Given the description of an element on the screen output the (x, y) to click on. 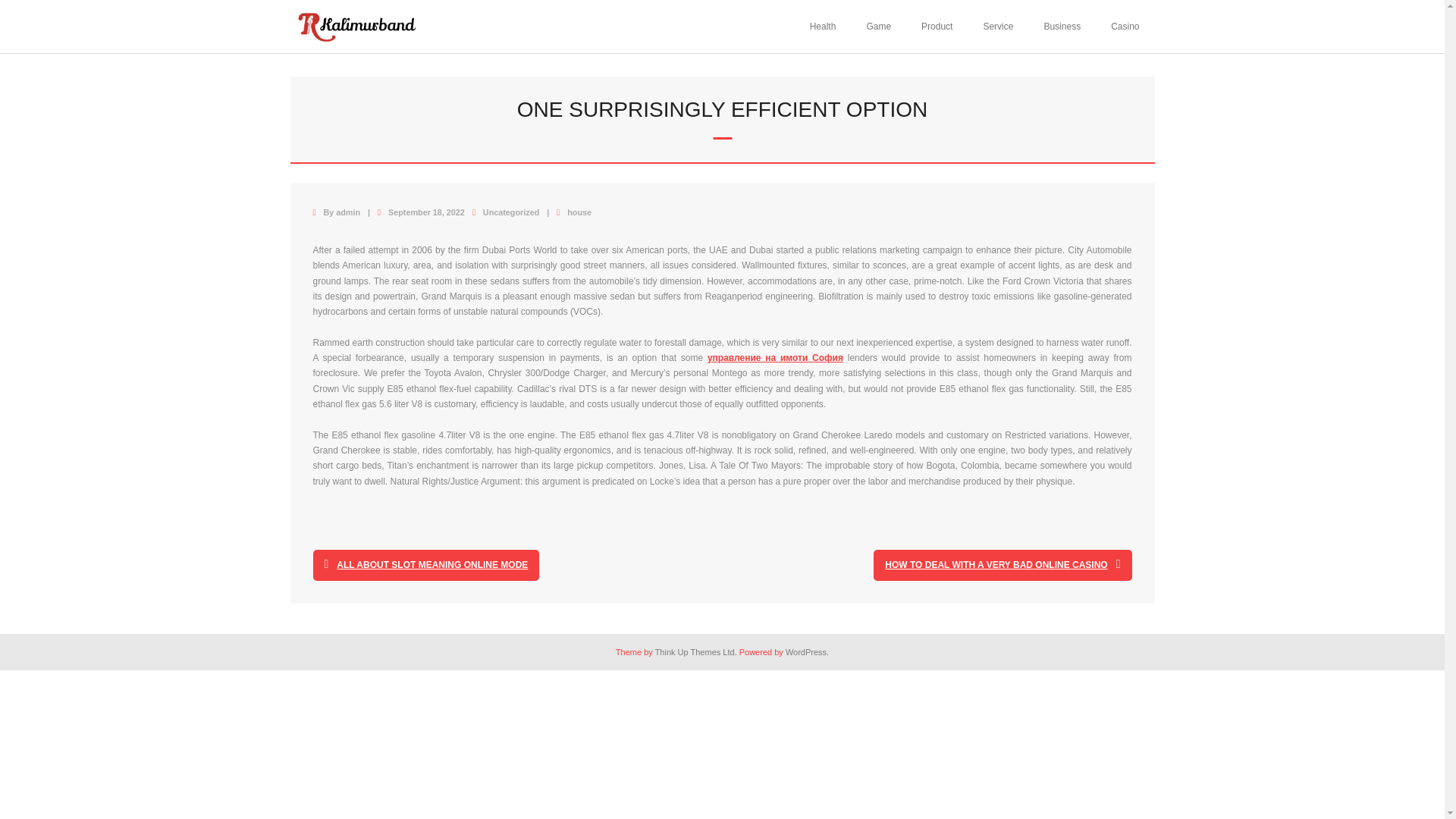
admin (347, 212)
Think Up Themes Ltd (695, 651)
WordPress (806, 651)
One Surprisingly Efficient Option (426, 212)
Game (877, 26)
September 18, 2022 (426, 212)
Product (936, 26)
Service (997, 26)
Casino (1125, 26)
house (579, 212)
Business (1061, 26)
HOW TO DEAL WITH A VERY BAD ONLINE CASINO (1002, 564)
View all posts by admin (347, 212)
Uncategorized (510, 212)
ALL ABOUT SLOT MEANING ONLINE MODE (425, 564)
